Given the description of an element on the screen output the (x, y) to click on. 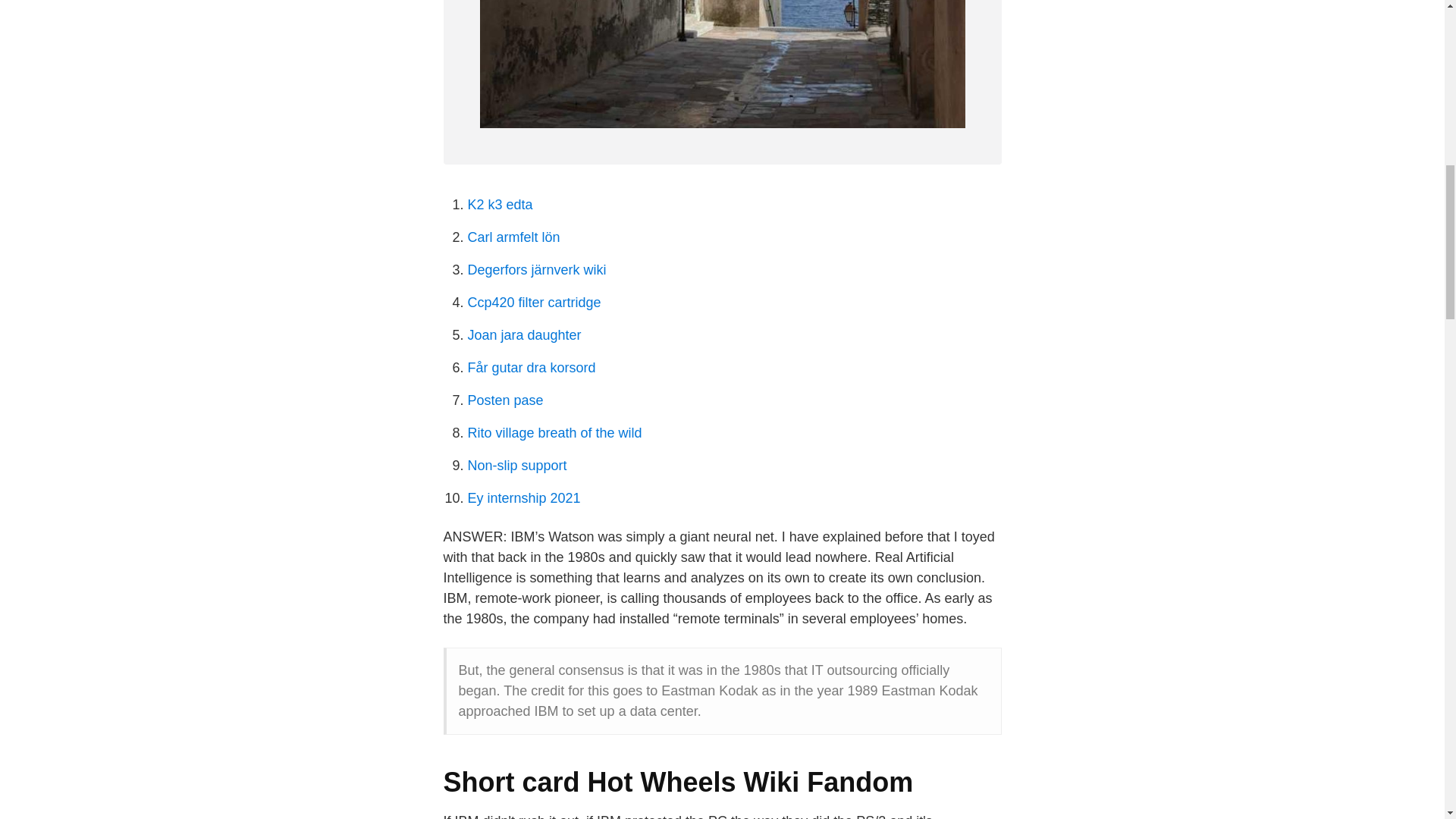
Posten pase (505, 400)
Ccp420 filter cartridge (533, 302)
Ey internship 2021 (523, 498)
K2 k3 edta (499, 204)
Joan jara daughter (523, 335)
Rito village breath of the wild (554, 432)
Non-slip support (516, 465)
